Given the description of an element on the screen output the (x, y) to click on. 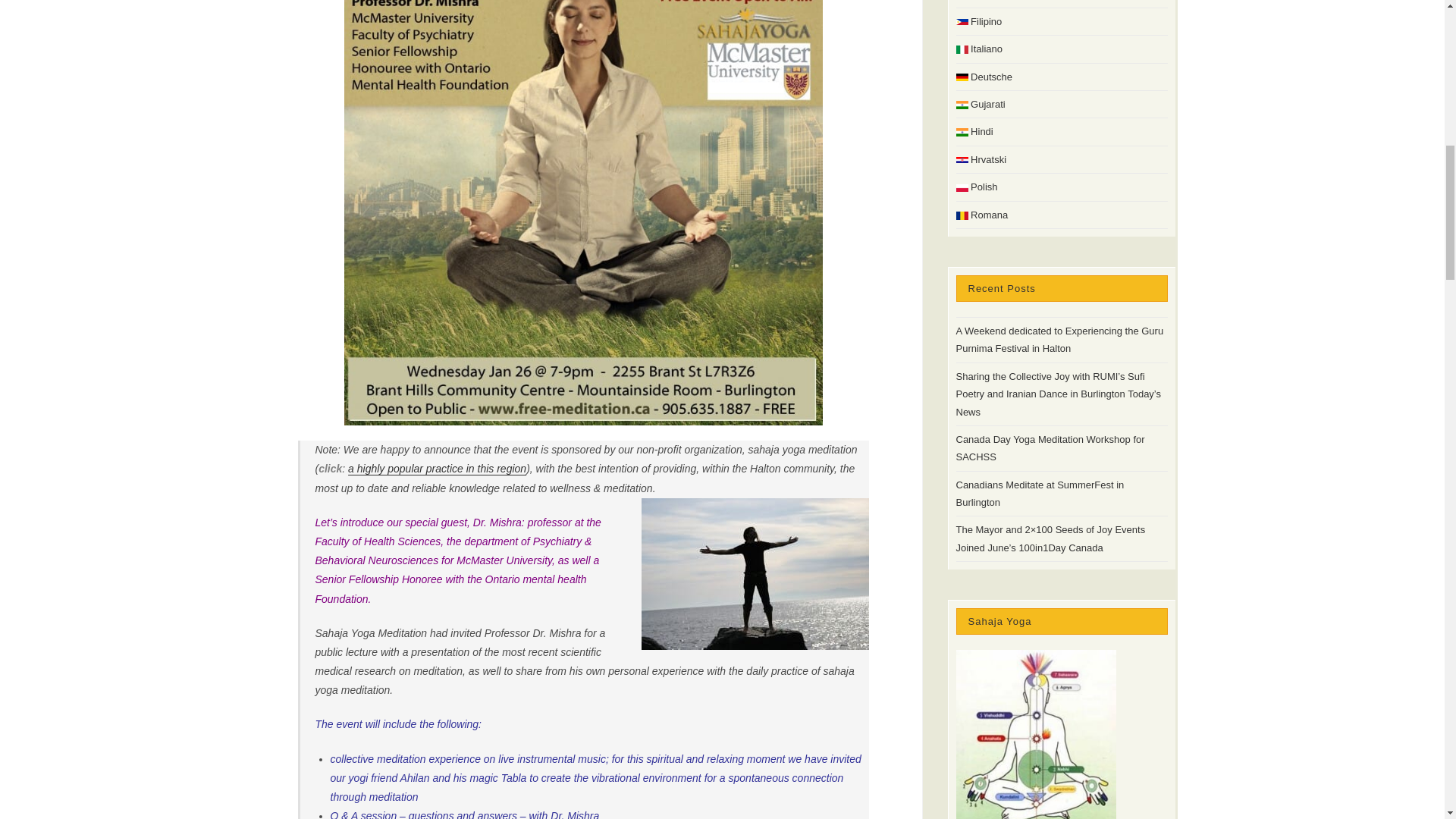
a highly popular practice in this region (436, 468)
Read the Feedback coming from the Halton Community (436, 468)
All is felt inside - photo by Axinia (755, 573)
